Given the description of an element on the screen output the (x, y) to click on. 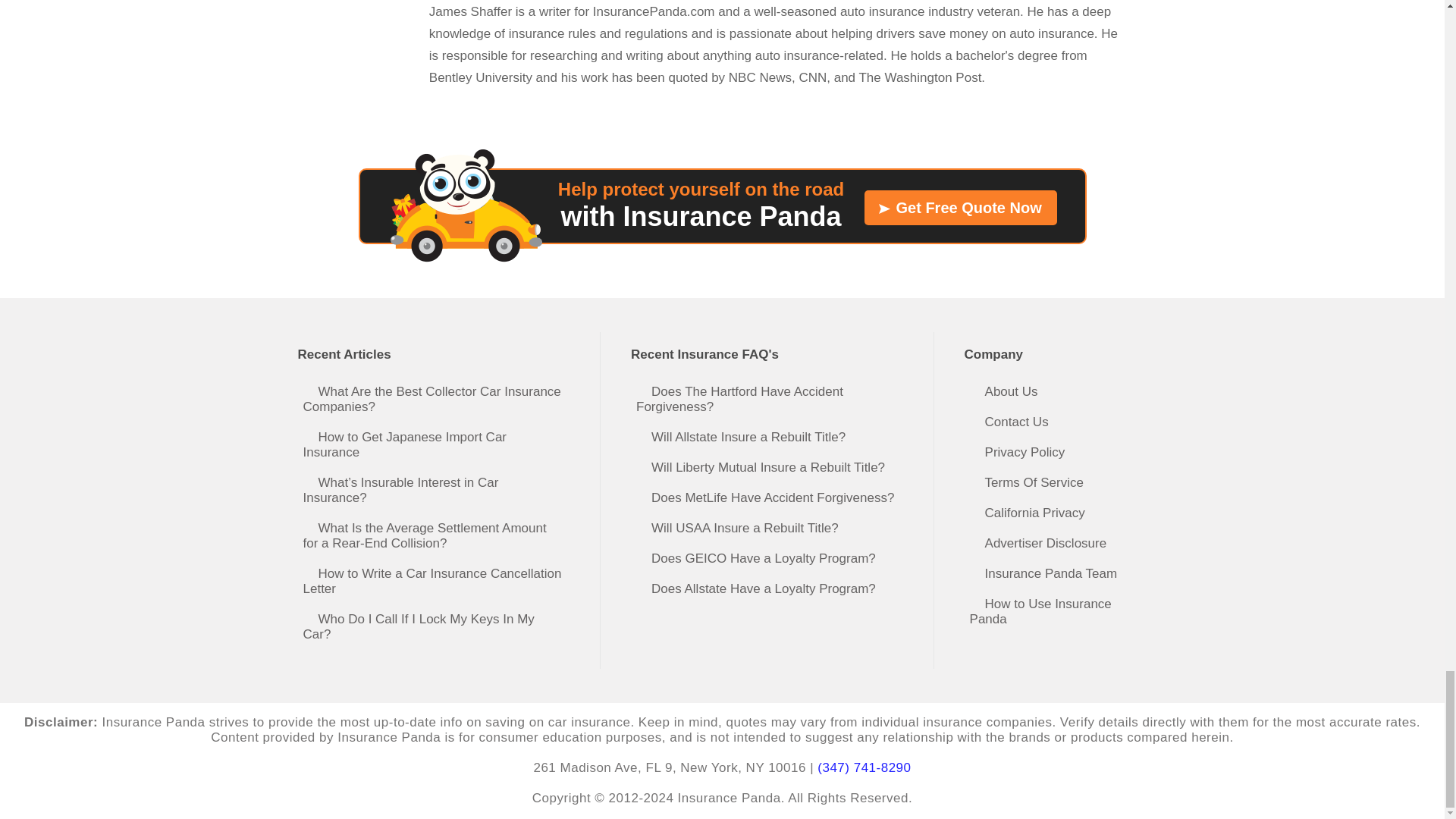
How to Get Japanese Import Car Insurance (436, 444)
James Shaffer (775, 9)
Get Free Quote Now (960, 207)
What Are the Best Collector Car Insurance Companies? (436, 399)
